Given the description of an element on the screen output the (x, y) to click on. 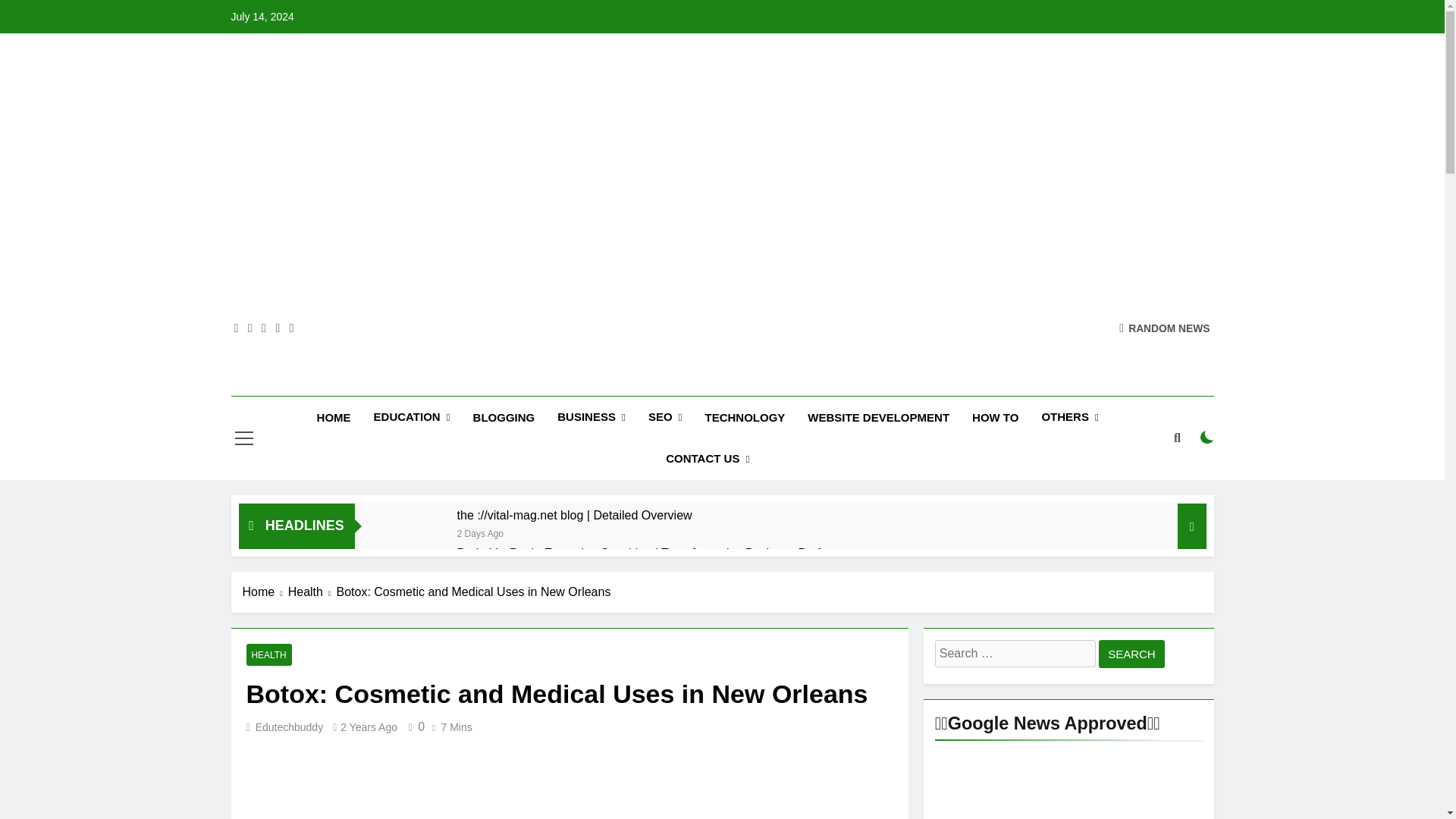
BUSINESS (591, 417)
EDUCATION (411, 417)
Search (1131, 653)
BLOGGING (504, 417)
RANDOM NEWS (1164, 327)
TECHNOLOGY (745, 417)
on (1206, 437)
HOME (333, 417)
OTHERS (1069, 417)
CONTACT US (706, 458)
EduTechBuddy (593, 382)
HOW TO (994, 417)
SEO (665, 417)
Search (1131, 653)
WEBSITE DEVELOPMENT (878, 417)
